Given the description of an element on the screen output the (x, y) to click on. 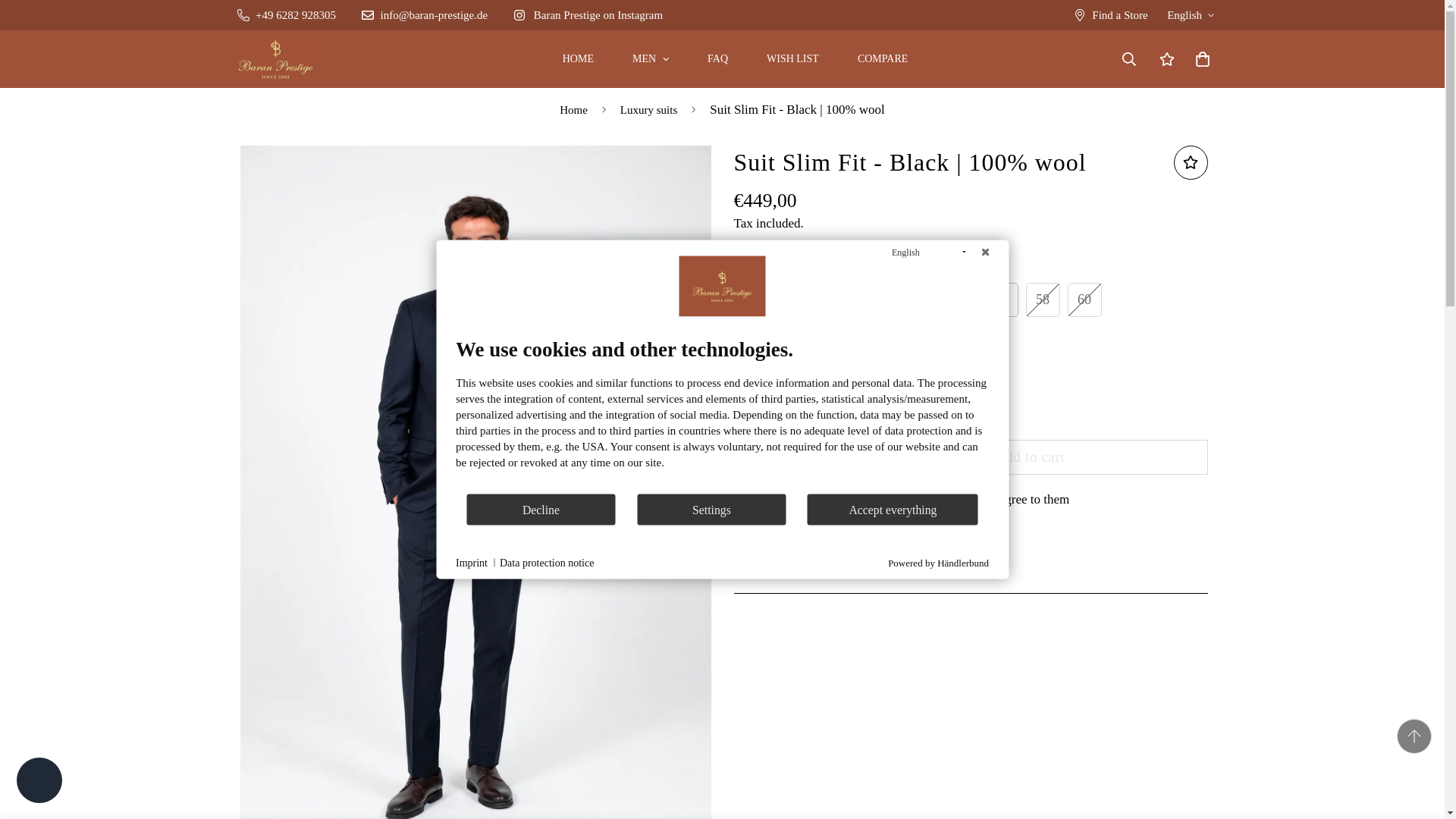
WISH LIST (792, 59)
Shopify online store chat (38, 781)
COMPARE (882, 59)
Back to the home page (573, 110)
